Given the description of an element on the screen output the (x, y) to click on. 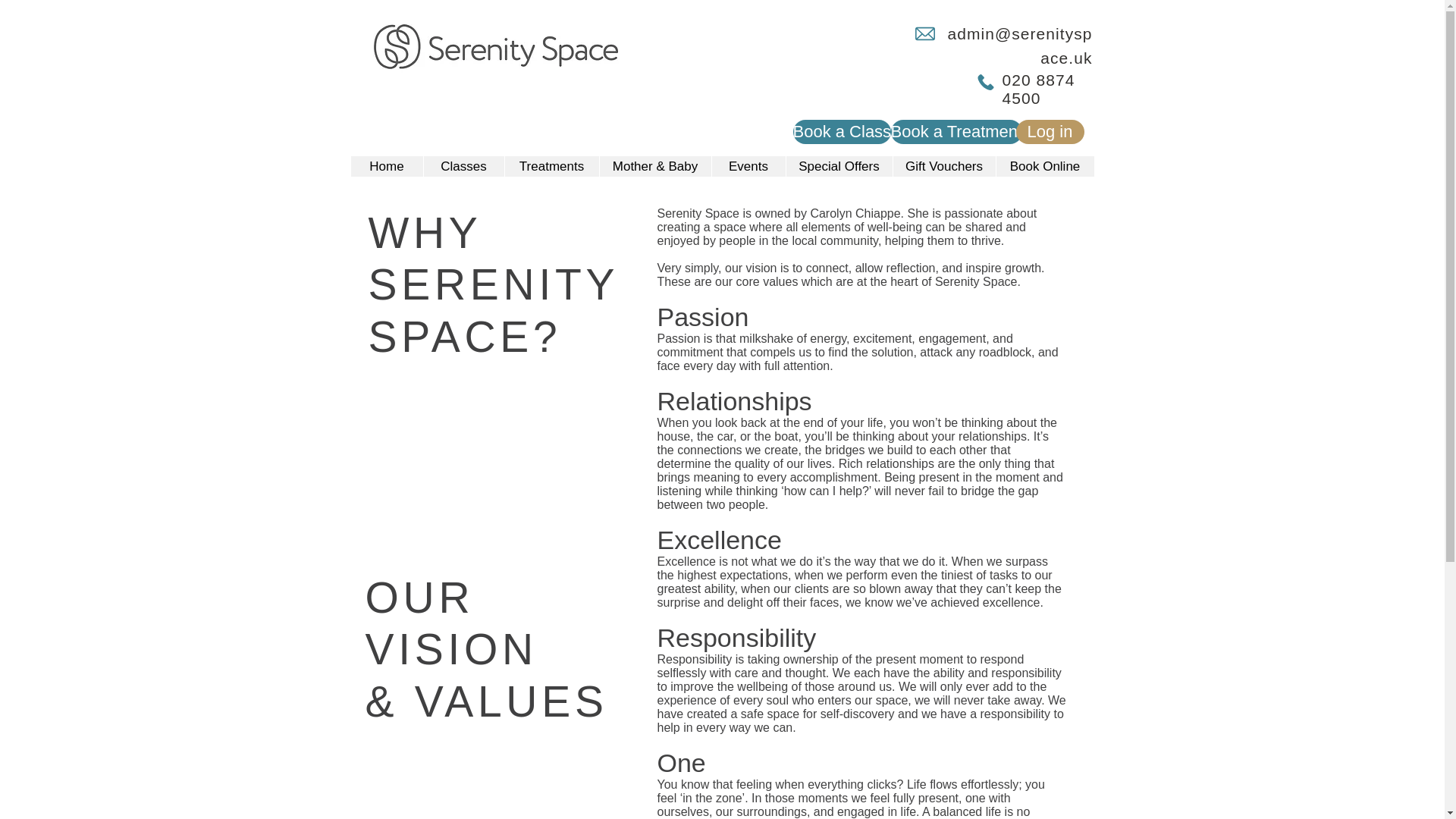
Book Online (1043, 166)
Special Offers (839, 166)
Log in (1050, 131)
Book a Class (842, 131)
020 8874 4500 (1039, 89)
Book a Treatment (955, 131)
Gift Vouchers (942, 166)
